Given the description of an element on the screen output the (x, y) to click on. 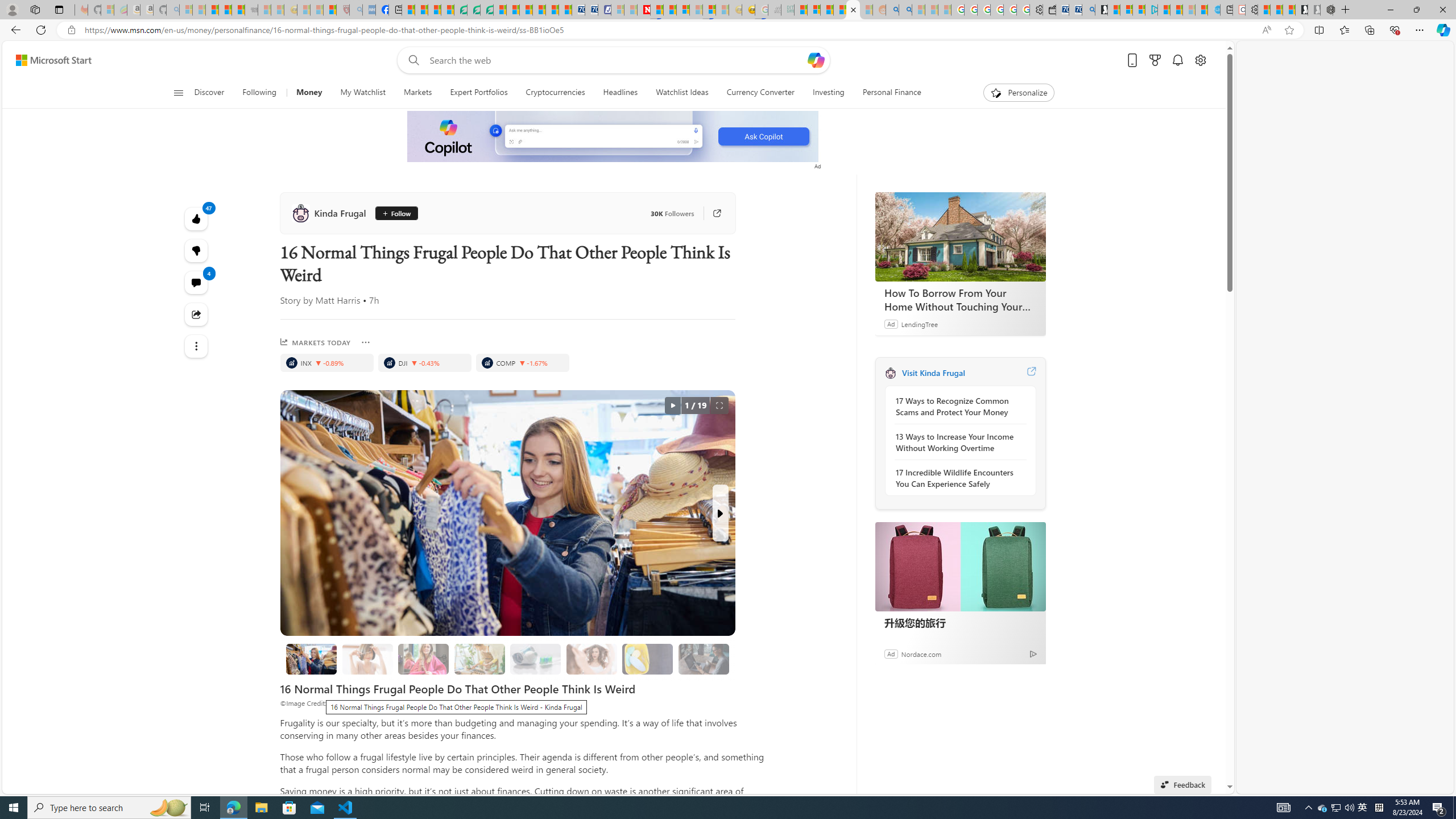
Ad Choice (1032, 653)
Discover (208, 92)
Cheap Hotels - Save70.com (590, 9)
New tab (1226, 9)
Headlines (619, 92)
Student Loan Update: Forgiveness Program Ends This Month (839, 9)
Skip to footer (46, 59)
Nordace.com (920, 653)
3. Growing From Seeds (479, 659)
Class: progress (703, 656)
